Given the description of an element on the screen output the (x, y) to click on. 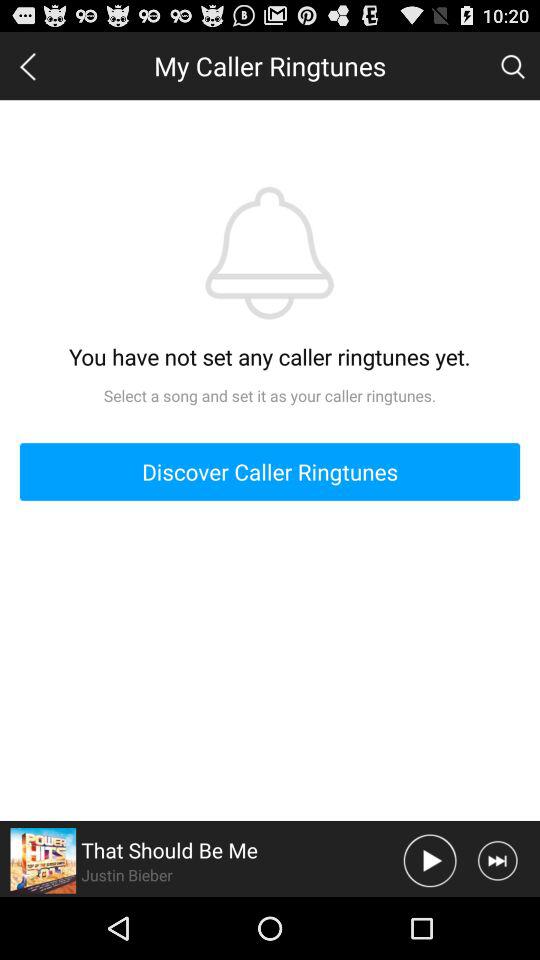
skip to the next (497, 860)
